Given the description of an element on the screen output the (x, y) to click on. 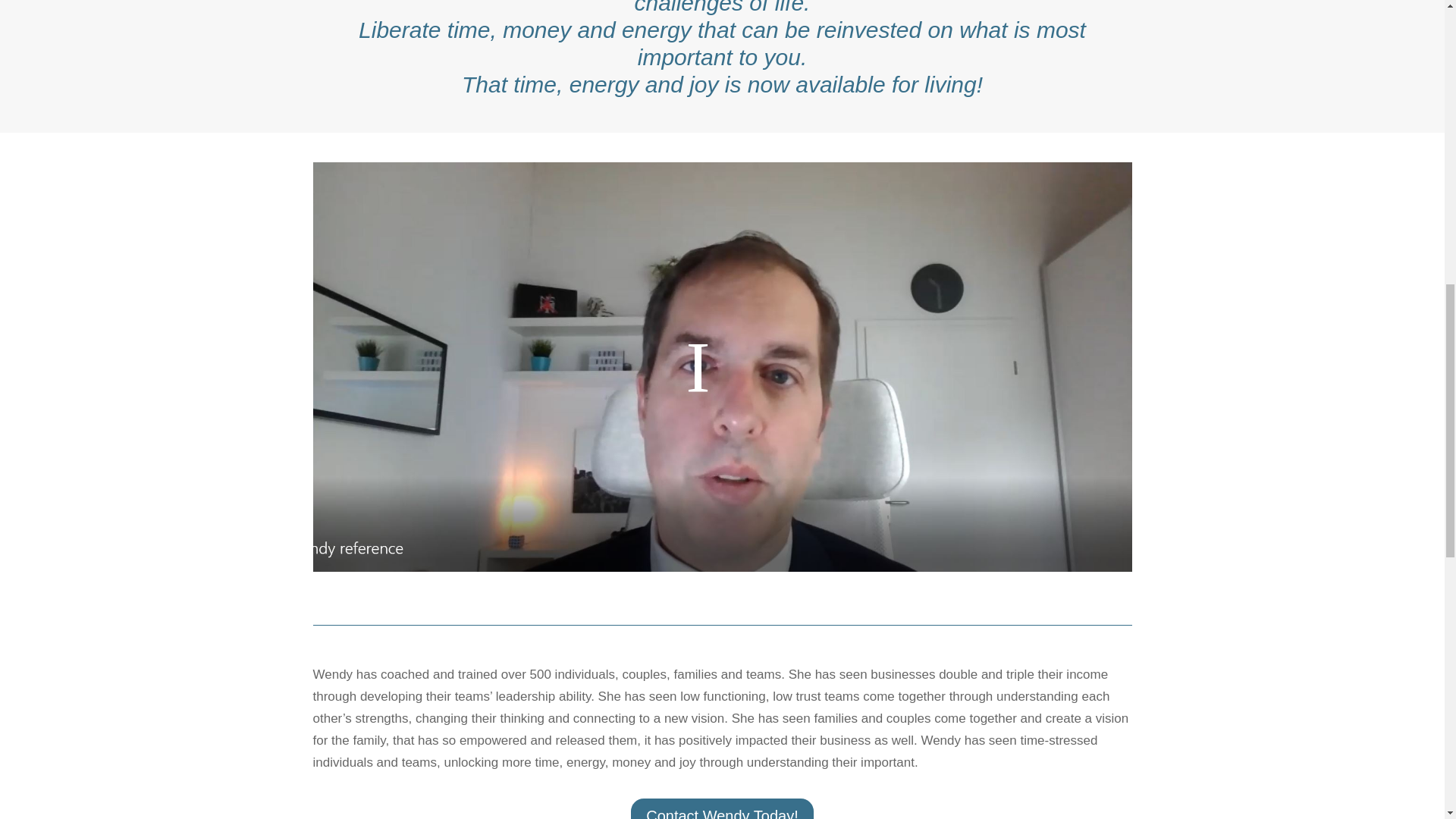
Contact Wendy Today! (721, 807)
